Given the description of an element on the screen output the (x, y) to click on. 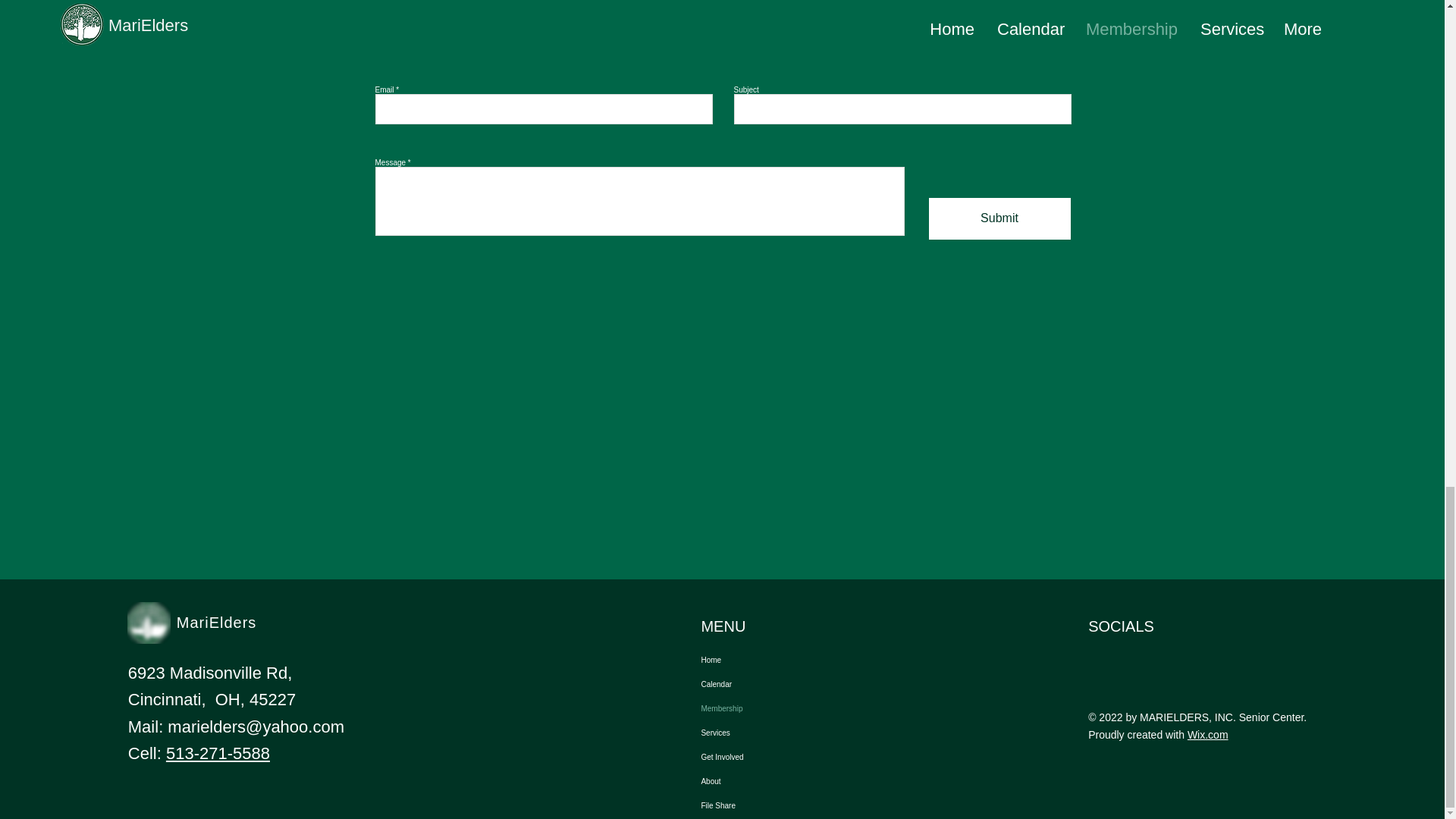
MariElders (216, 622)
About (771, 781)
Get Involved (771, 757)
Calendar (771, 684)
Membership (771, 708)
Submit (999, 218)
Services (771, 733)
File Share (771, 805)
Home (771, 660)
Wix.com (1208, 734)
